Given the description of an element on the screen output the (x, y) to click on. 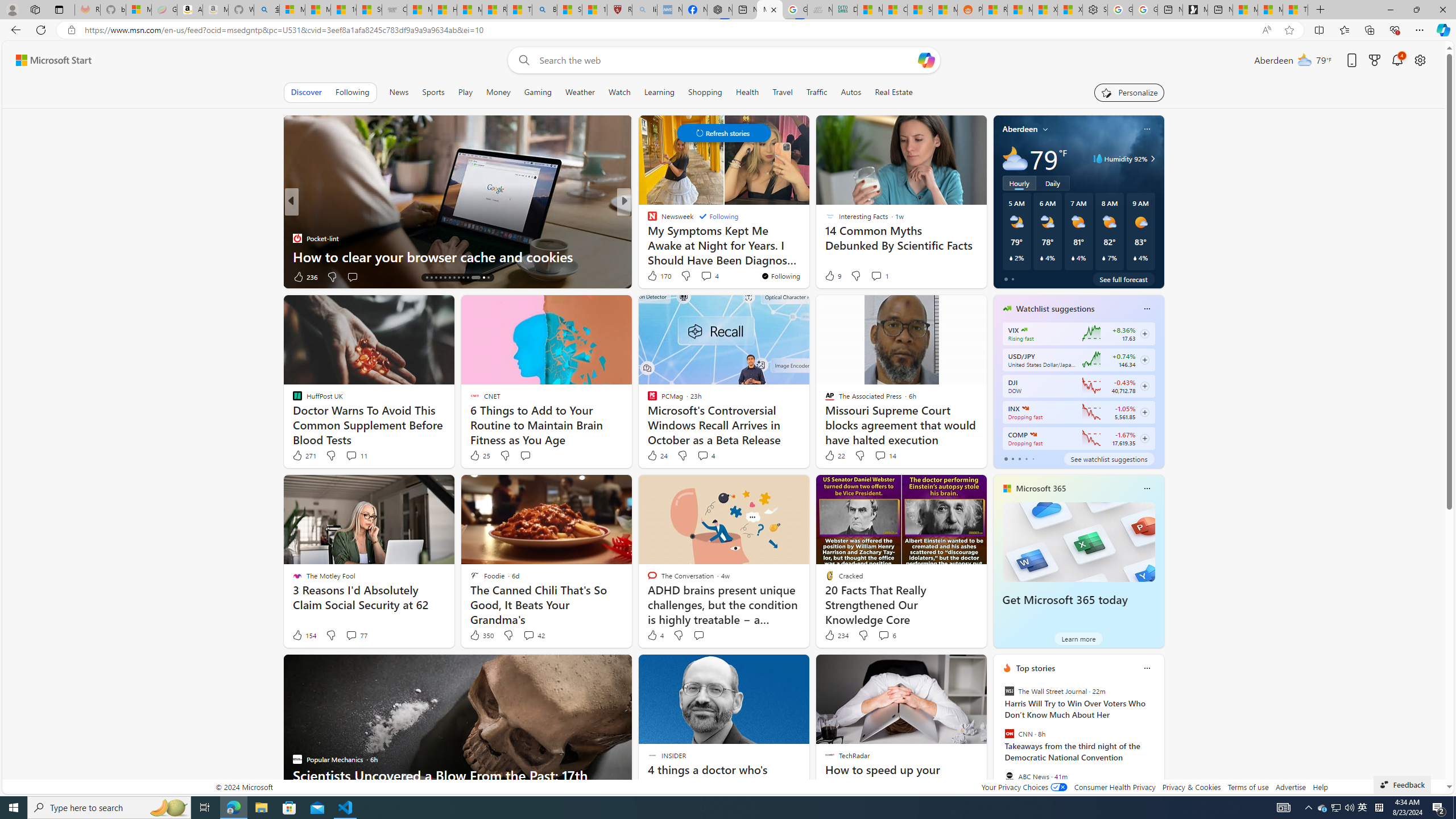
My location (1045, 128)
View comments 6 Comment (887, 634)
271 Like (303, 455)
DITOGAMES AG Imprint (844, 9)
You're following FOX News (253, 279)
22 Like (834, 455)
AutomationID: tab-24 (472, 277)
Weather (579, 92)
Bing (544, 9)
12 Popular Science Lies that Must be Corrected (593, 9)
Real Estate (893, 92)
